Given the description of an element on the screen output the (x, y) to click on. 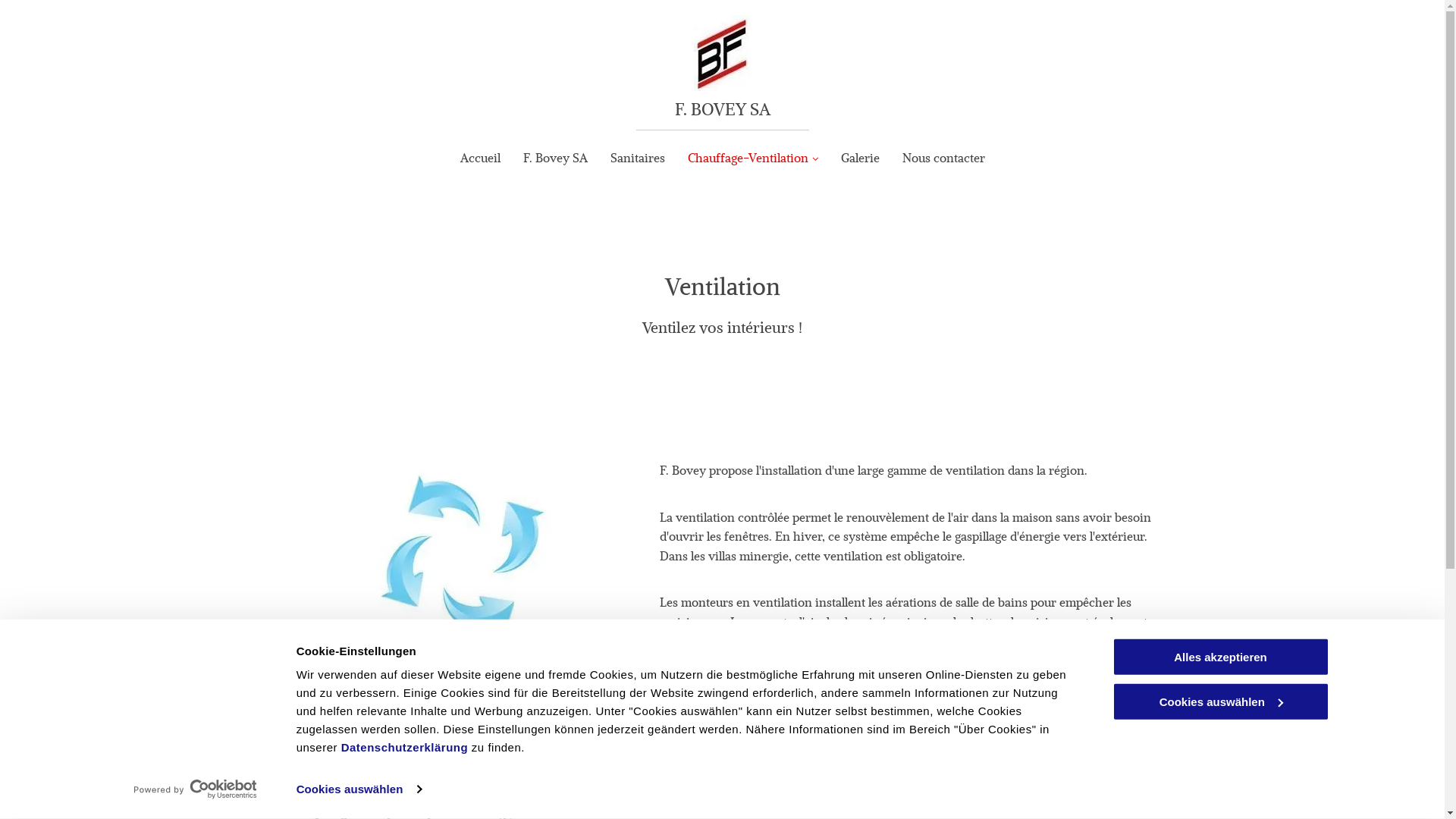
Nous contacter Element type: text (943, 156)
Sanitaires Element type: text (636, 156)
Galerie Element type: text (859, 156)
Chauffage-Ventilation Element type: text (752, 156)
F. Bovey SA Element type: text (555, 156)
Alles akzeptieren Element type: text (1219, 656)
Contactez F. Bovey pour toutes les demandes de nos devis ! Element type: text (819, 686)
F. BOVEY SA Element type: text (722, 108)
Accueil Element type: text (479, 156)
